Given the description of an element on the screen output the (x, y) to click on. 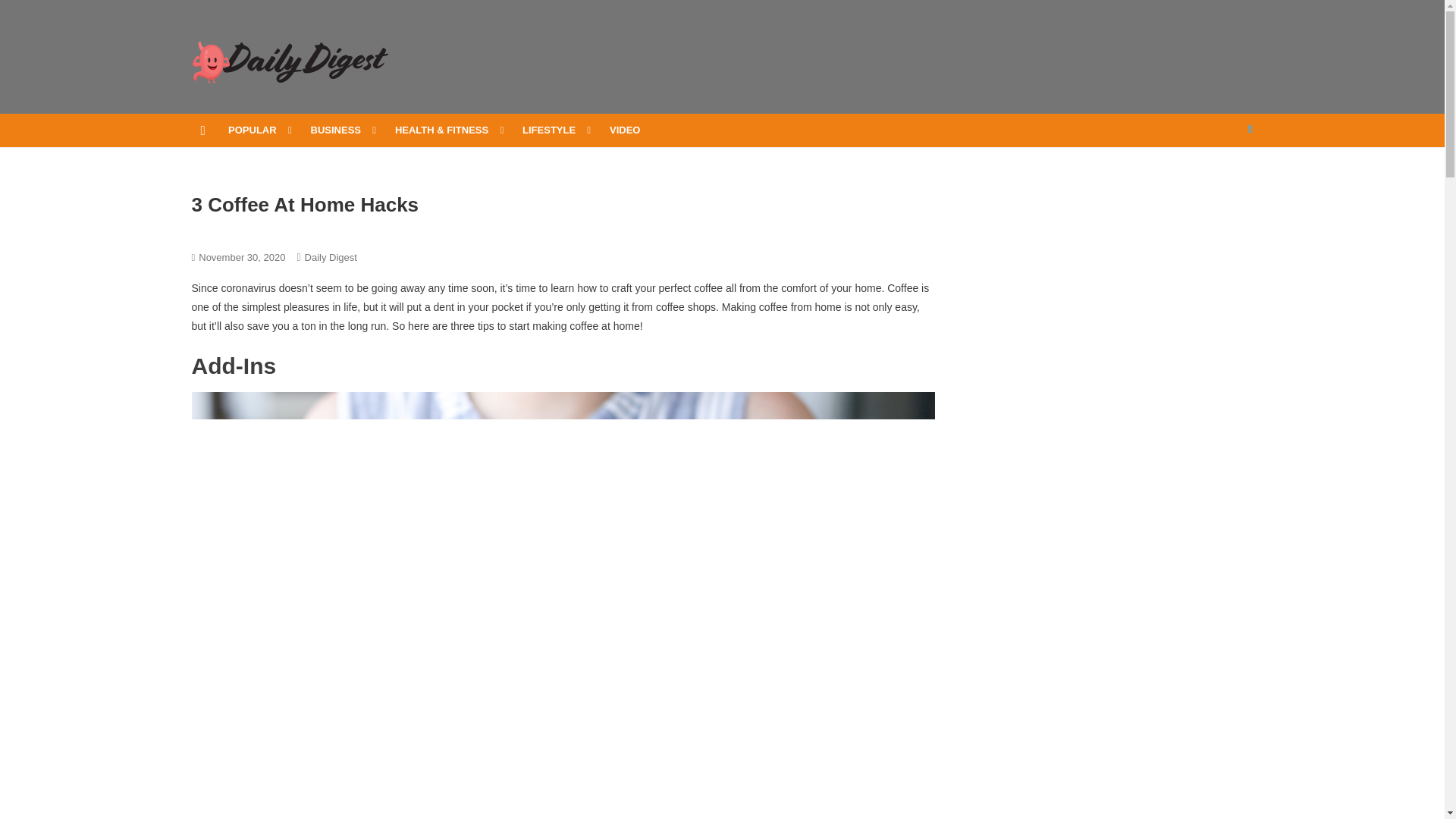
Daily Digest (330, 256)
Daily Digest (260, 102)
BUSINESS (341, 130)
Entertainment (255, 231)
Search (1221, 179)
POPULAR (257, 130)
Uncategorized (359, 231)
VIDEO (624, 130)
Culture (205, 231)
Lifestyle (306, 231)
Skip to content (34, 9)
November 30, 2020 (241, 256)
LIFESTYLE (554, 130)
Wellness (412, 231)
